Given the description of an element on the screen output the (x, y) to click on. 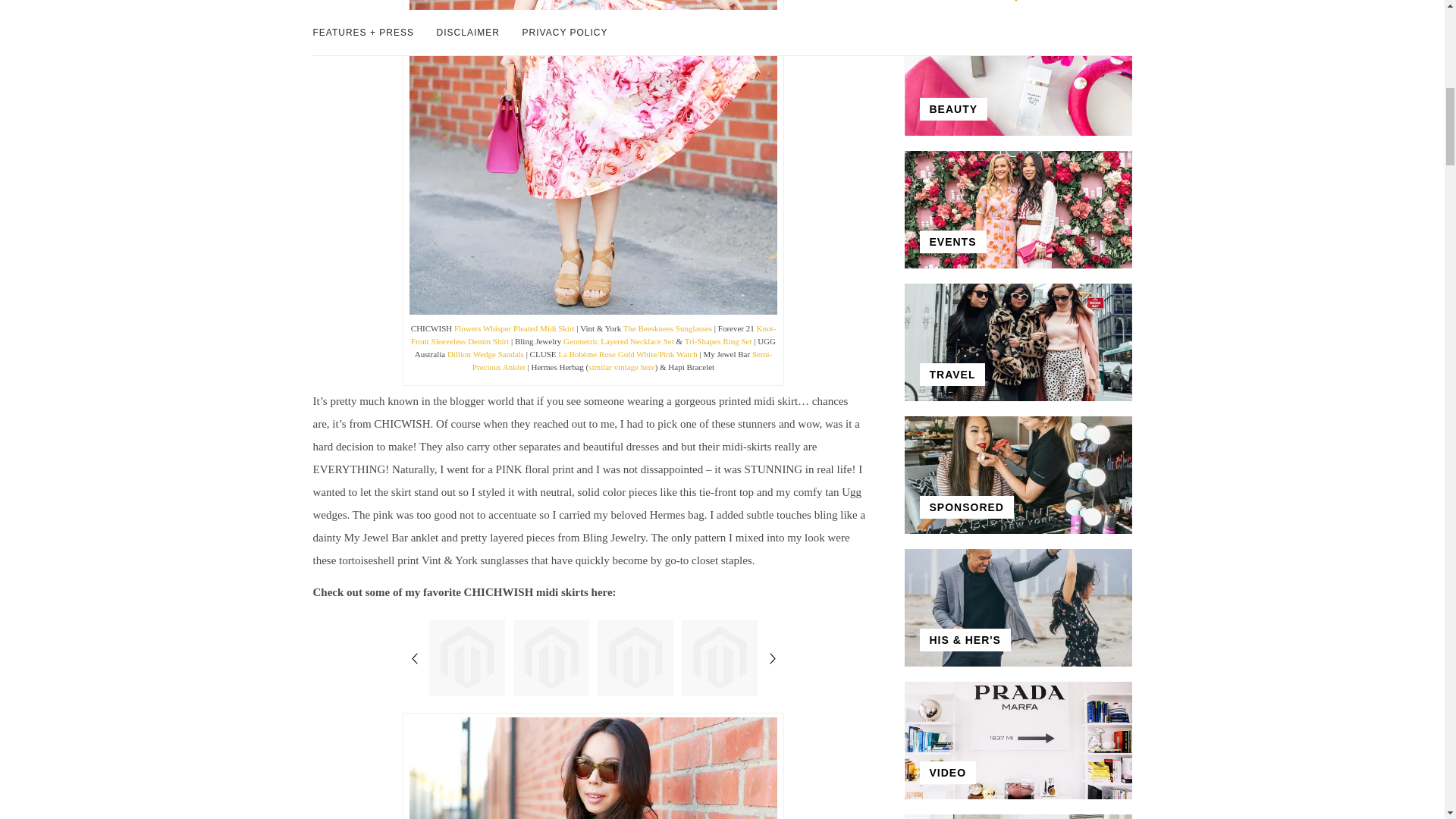
Flowers Whisper Pleated Midi Skirt (514, 327)
Tri-Shapes Ring Set (718, 340)
Geometric Layered Necklace Set (618, 340)
similar vintage here (620, 366)
The Beesknees Sunglasses (667, 327)
Semi-Precious Anklet (621, 360)
Dillion Wedge Sandals (485, 353)
Knot-Front Sleeveless Denim Shirt (593, 334)
